Given the description of an element on the screen output the (x, y) to click on. 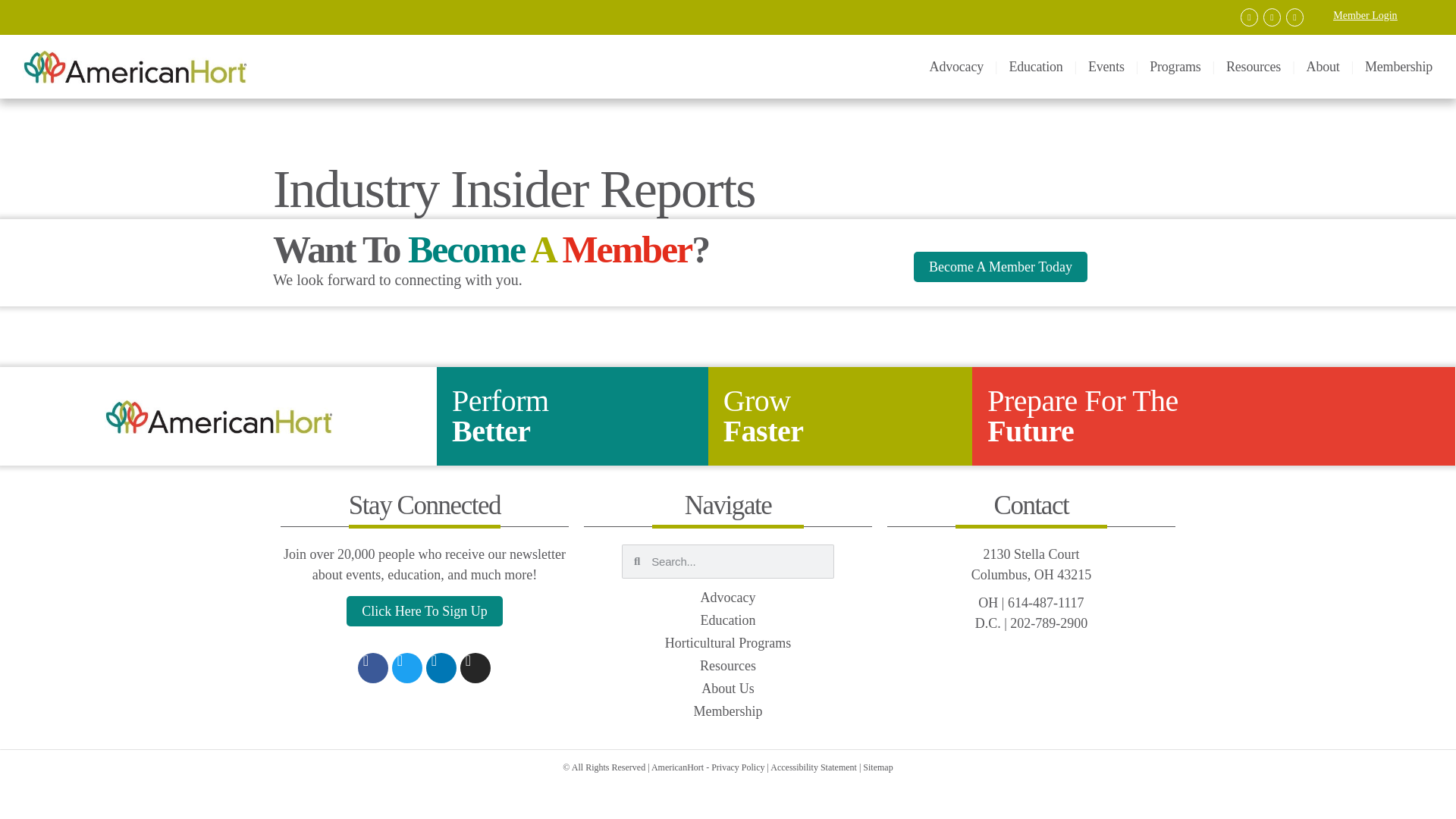
Member Login (1364, 15)
Linkedin (1273, 17)
Advocacy (956, 66)
Education (1034, 66)
Home (182, 66)
Facebook (1251, 17)
Instagram (1296, 17)
